Given the description of an element on the screen output the (x, y) to click on. 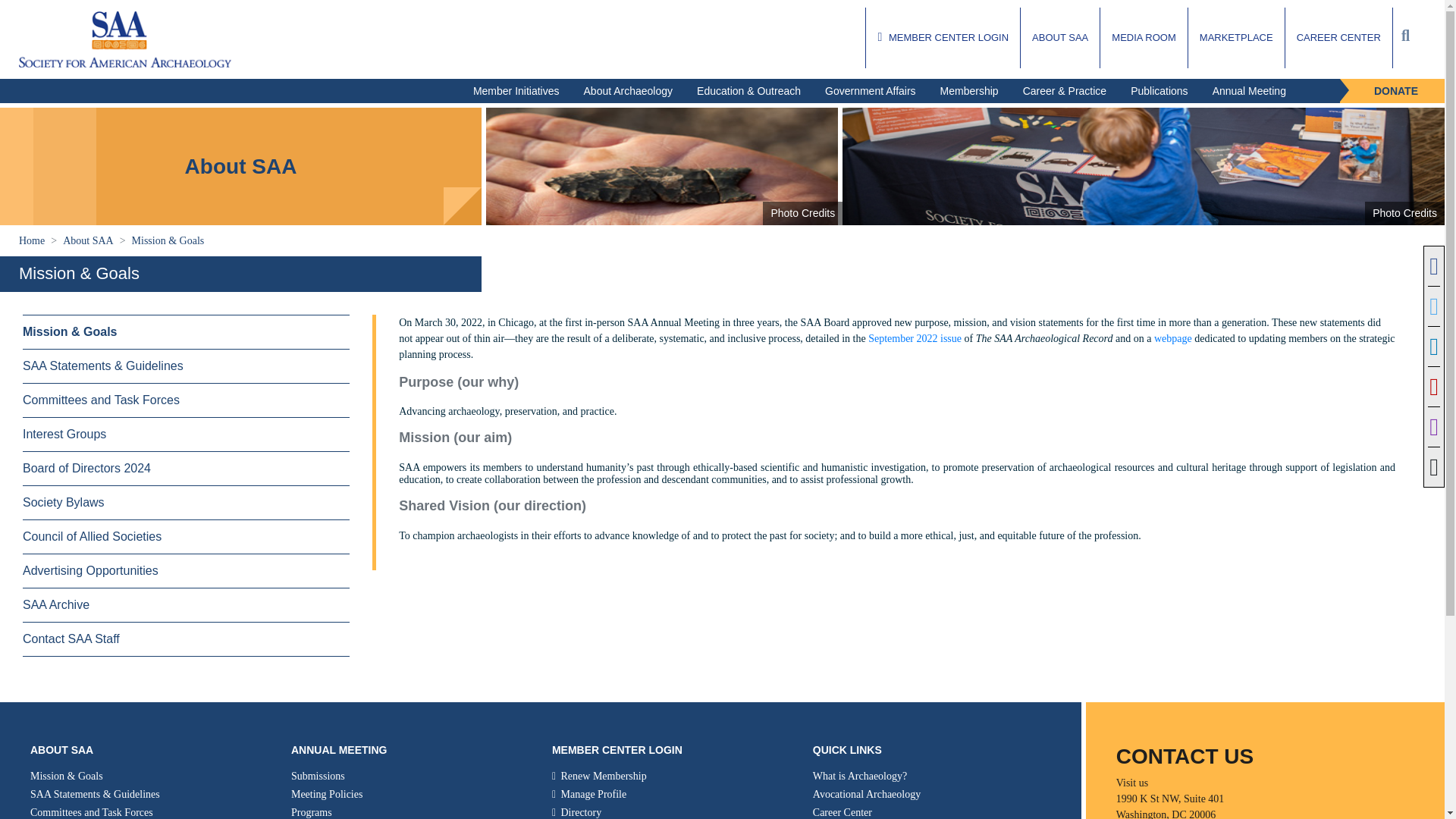
ABOUT SAA (1059, 37)
Logo (124, 39)
CAREER CENTER (1338, 37)
MEDIA ROOM (1144, 37)
MEMBER CENTER LOGIN (943, 37)
Open image in original size (124, 37)
MARKETPLACE (1236, 37)
